Given the description of an element on the screen output the (x, y) to click on. 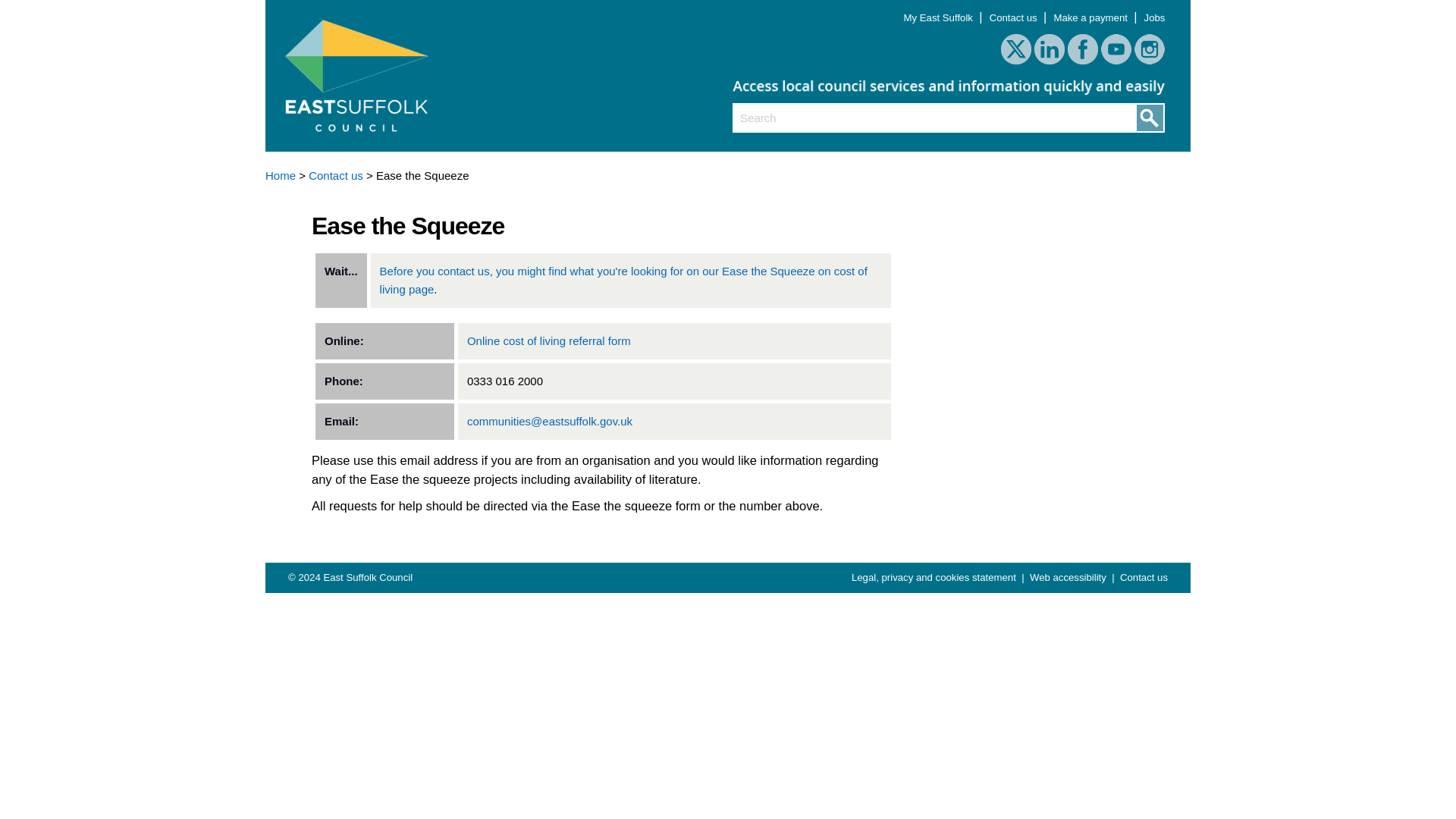
Jobs (1155, 17)
Make a payment (1090, 17)
Contact us (335, 174)
Online cost of living referral form (548, 340)
Go (1147, 121)
My East Suffolk (939, 17)
Home (279, 174)
Legal, privacy and cookies statement (935, 577)
Go (1147, 121)
